Given the description of an element on the screen output the (x, y) to click on. 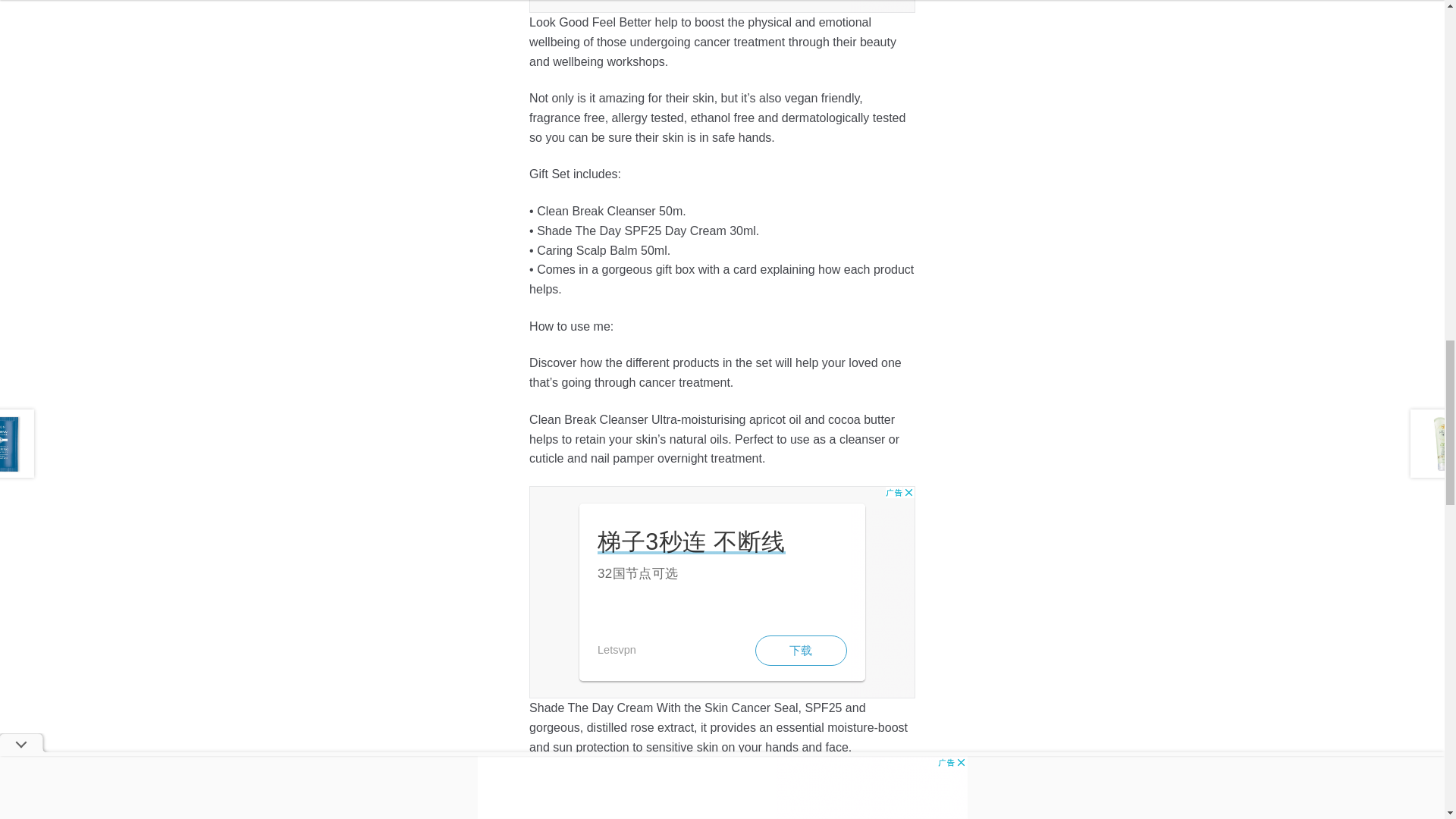
Advertisement (722, 6)
Advertisement (722, 592)
